Given the description of an element on the screen output the (x, y) to click on. 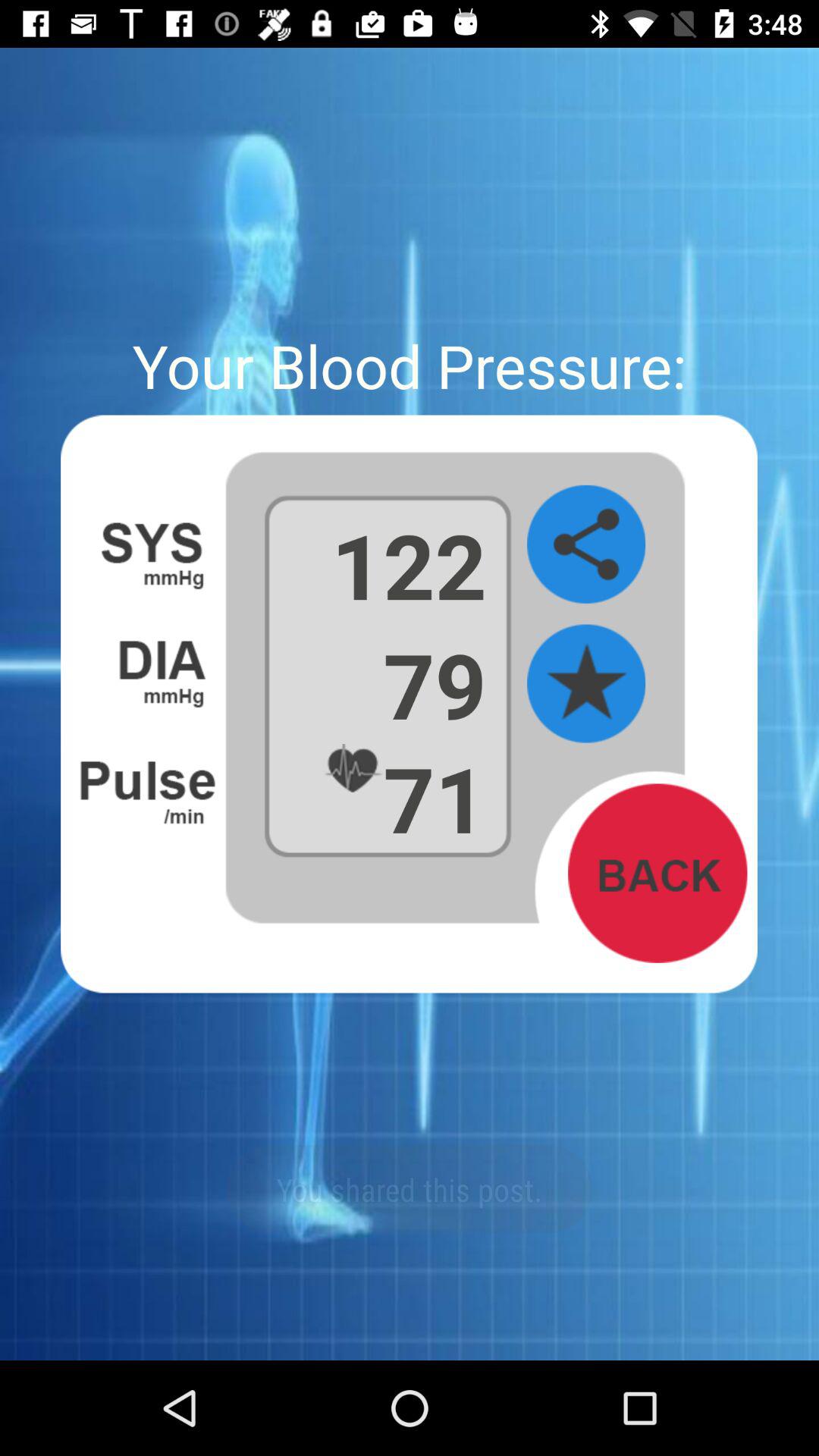
favorite blood pressure (586, 683)
